Given the description of an element on the screen output the (x, y) to click on. 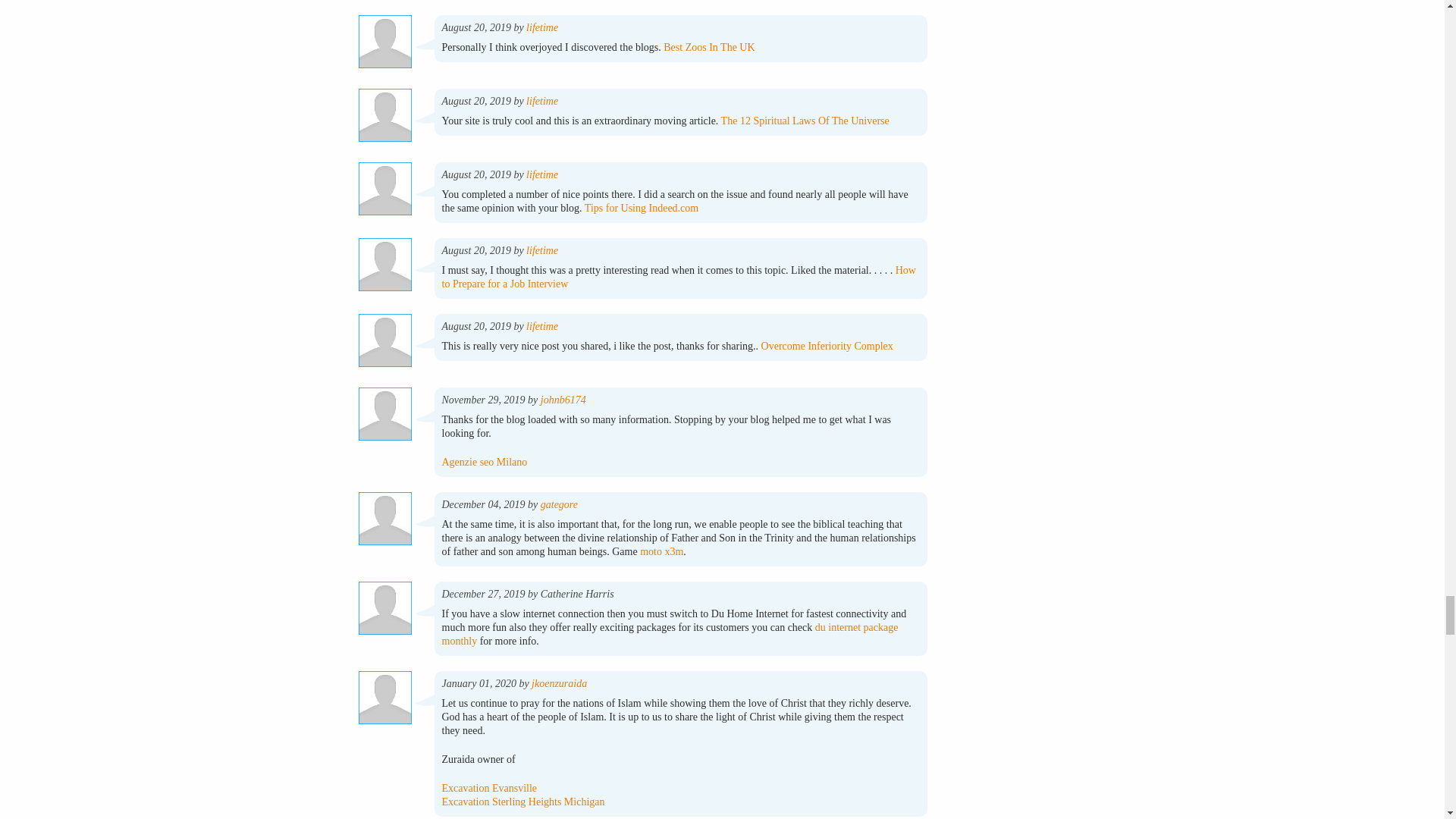
Agenzie seo Milano (484, 461)
